Given the description of an element on the screen output the (x, y) to click on. 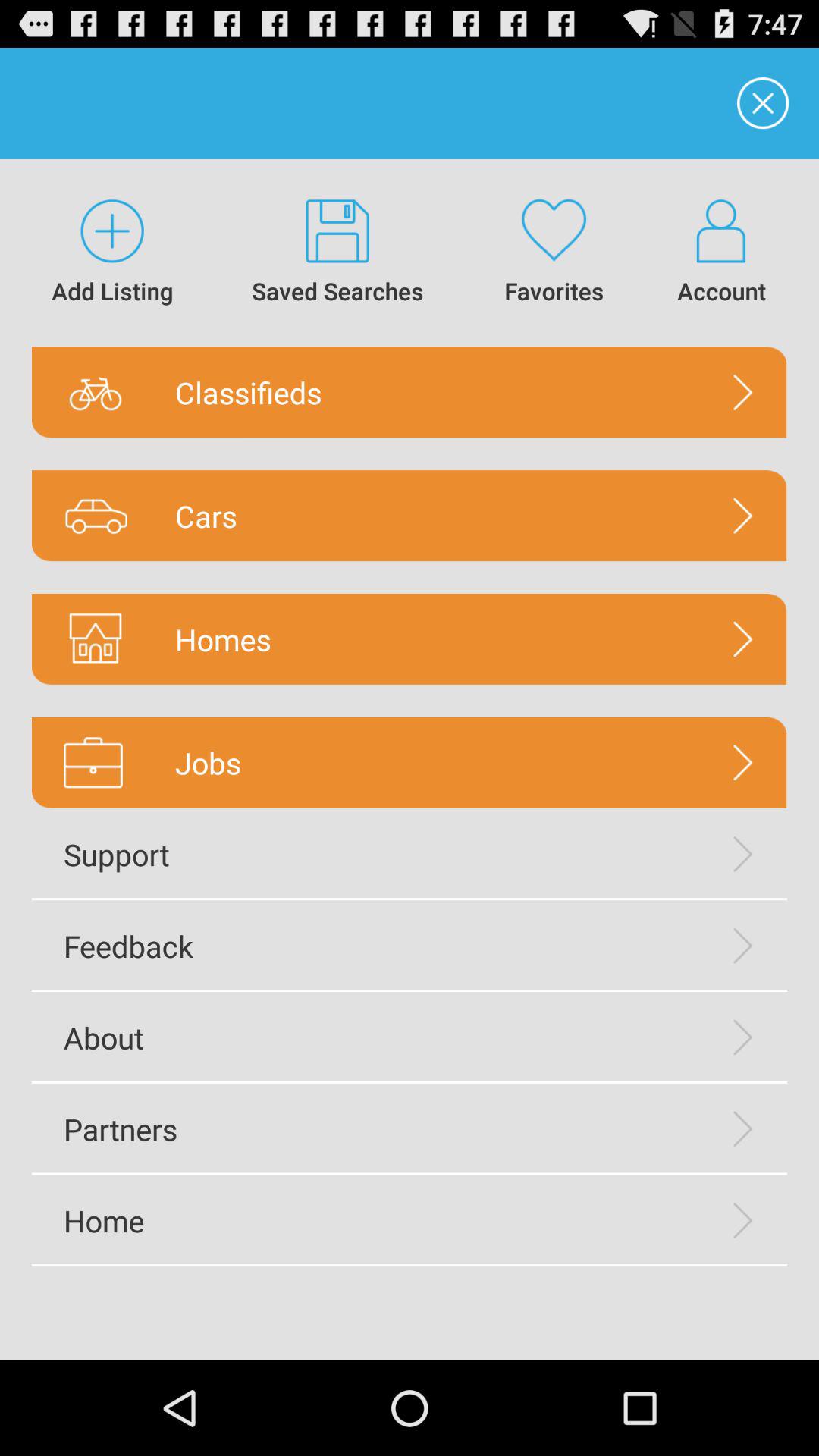
scroll until account (721, 253)
